Given the description of an element on the screen output the (x, y) to click on. 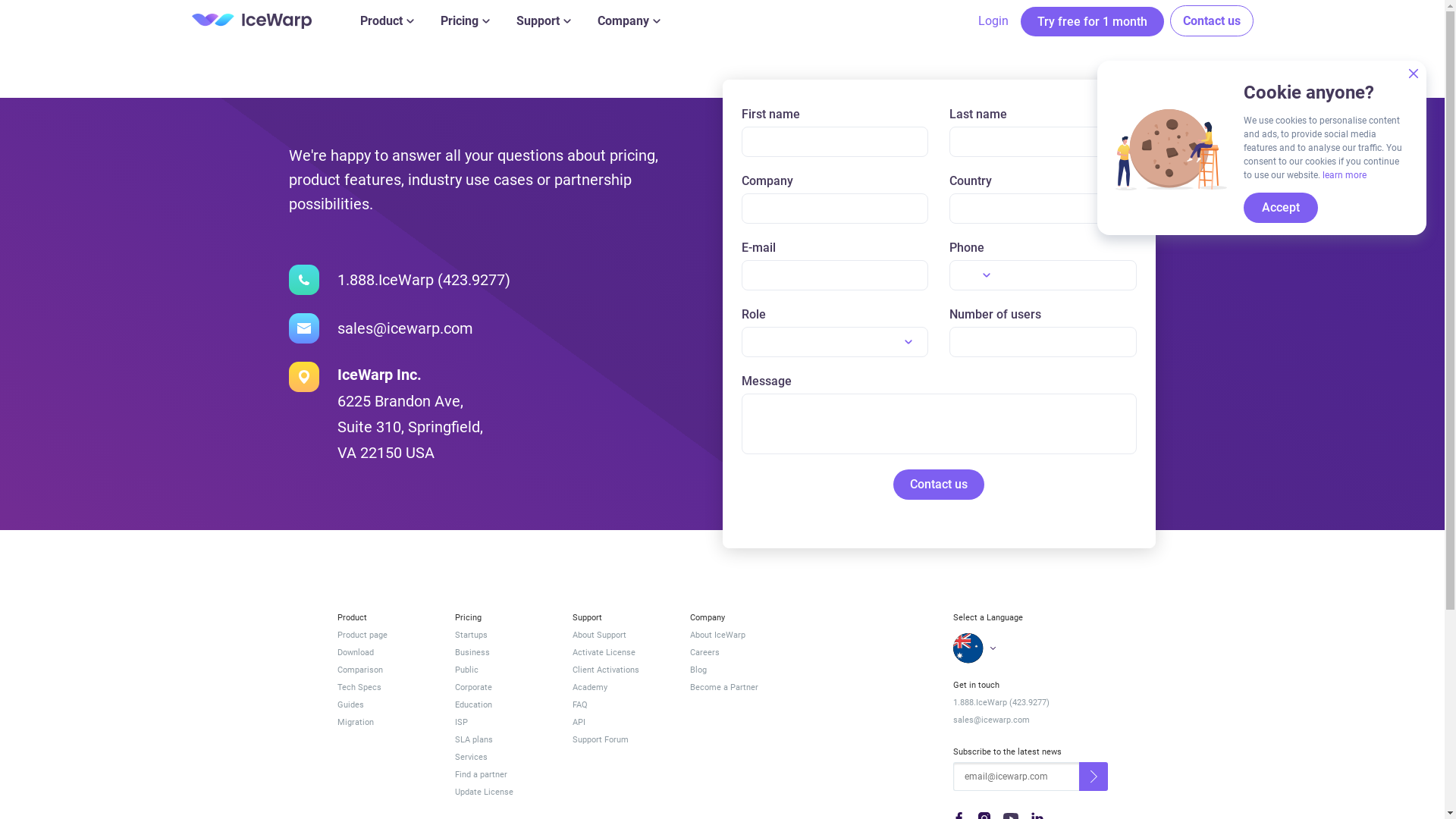
Support Element type: text (542, 21)
Tech Specs Element type: text (384, 687)
About IceWarp Element type: text (738, 634)
Comparison Element type: text (384, 669)
ISP Element type: text (503, 722)
Login Element type: text (993, 20)
Product Element type: text (386, 21)
FAQ Element type: text (620, 704)
SLA plans Element type: text (503, 739)
Update License Element type: text (503, 791)
learn more Element type: text (1344, 174)
sales@icewarp.com Element type: text (1029, 719)
Activate License Element type: text (620, 652)
Migration Element type: text (384, 722)
Contact us Element type: text (1210, 20)
Corporate Element type: text (503, 687)
API Element type: text (620, 722)
Guides Element type: text (384, 704)
Accept Element type: text (1280, 207)
Careers Element type: text (738, 652)
Company Element type: text (628, 21)
Contact us Element type: text (938, 484)
Pricing Element type: text (464, 21)
Find a partner Element type: text (503, 774)
Education Element type: text (503, 704)
Business Element type: text (503, 652)
Product page Element type: text (384, 634)
About Support Element type: text (620, 634)
Startups Element type: text (503, 634)
Try free for 1 month Element type: text (1092, 20)
Services Element type: text (503, 756)
Client Activations Element type: text (620, 669)
Blog Element type: text (738, 669)
Support Forum Element type: text (620, 739)
Academy Element type: text (620, 687)
Become a Partner Element type: text (738, 687)
Download Element type: text (384, 652)
Public Element type: text (503, 669)
